Given the description of an element on the screen output the (x, y) to click on. 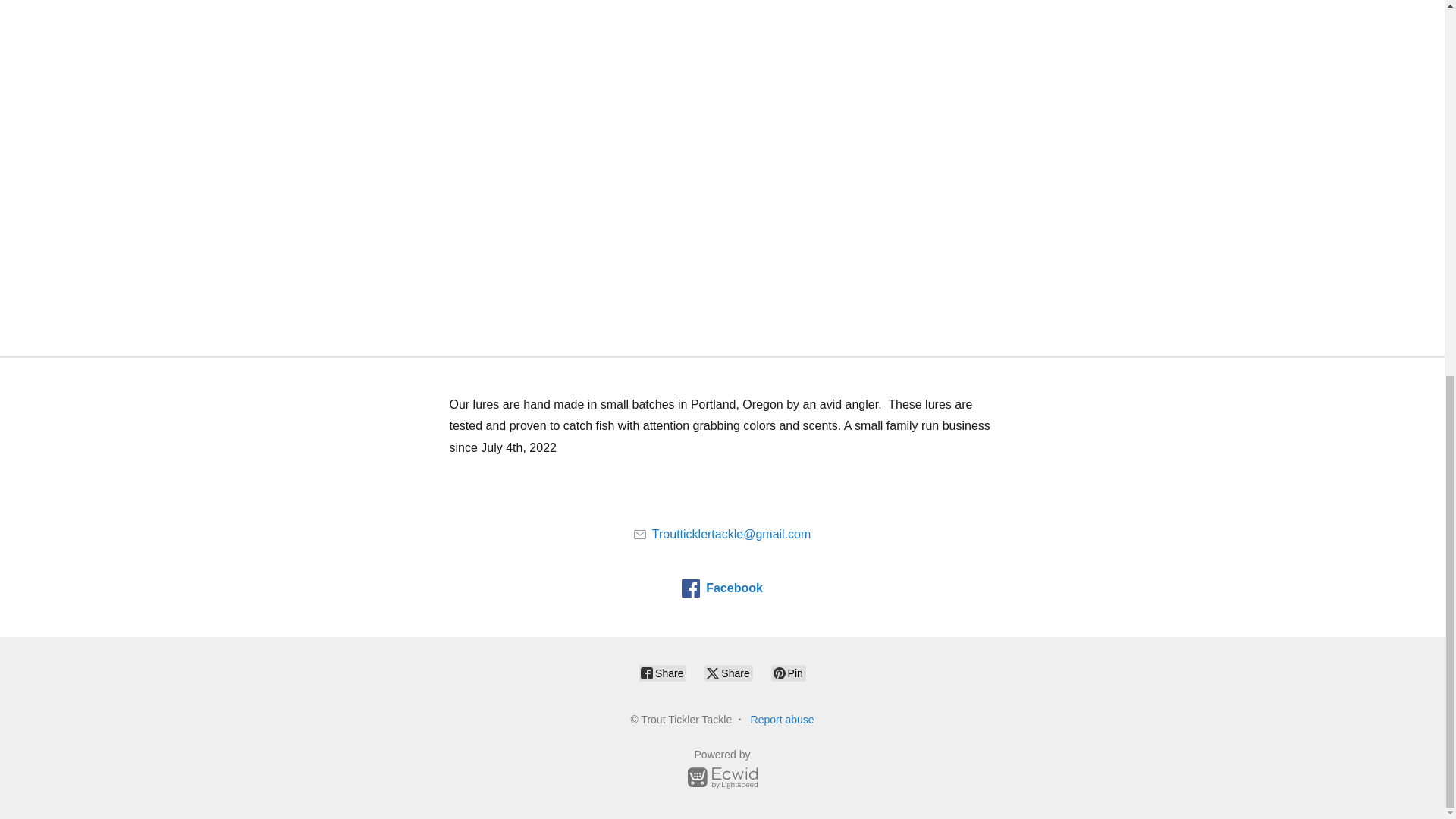
Share (662, 673)
Report abuse (782, 719)
Pin (788, 673)
Share (728, 673)
Powered by (722, 771)
Facebook (721, 588)
